Given the description of an element on the screen output the (x, y) to click on. 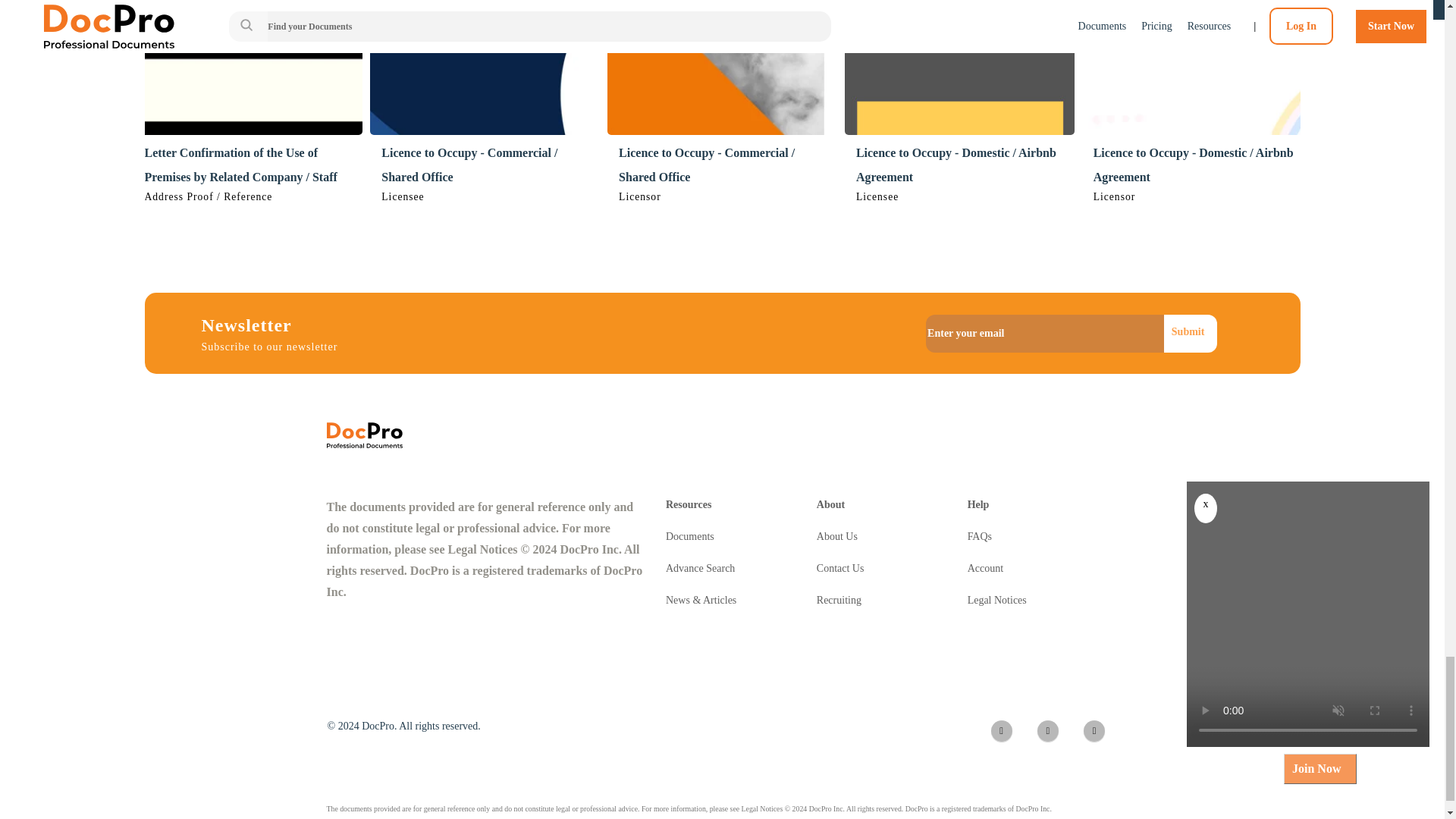
Linkedin (1047, 731)
Facebook (1000, 731)
Youtube (1094, 731)
